Given the description of an element on the screen output the (x, y) to click on. 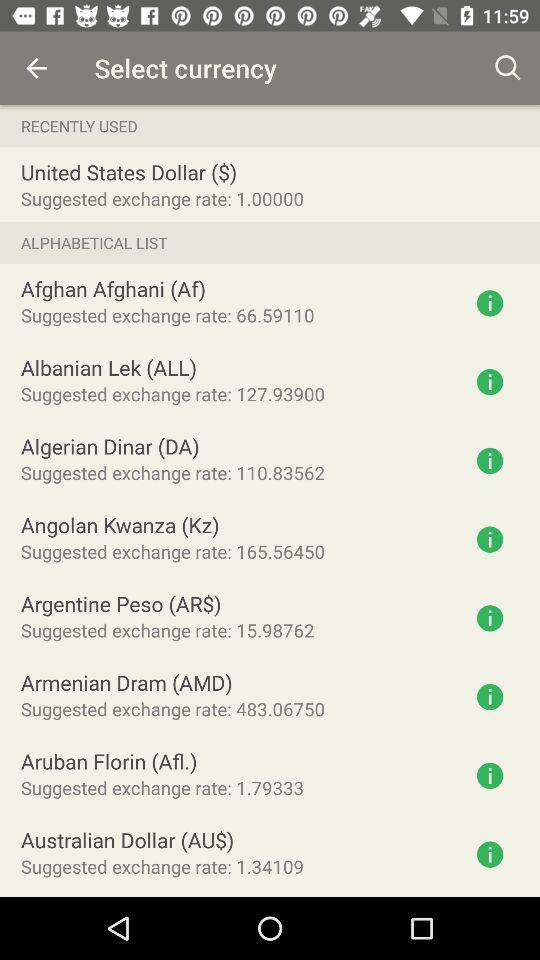
list information about angolan kwanza (490, 539)
